Given the description of an element on the screen output the (x, y) to click on. 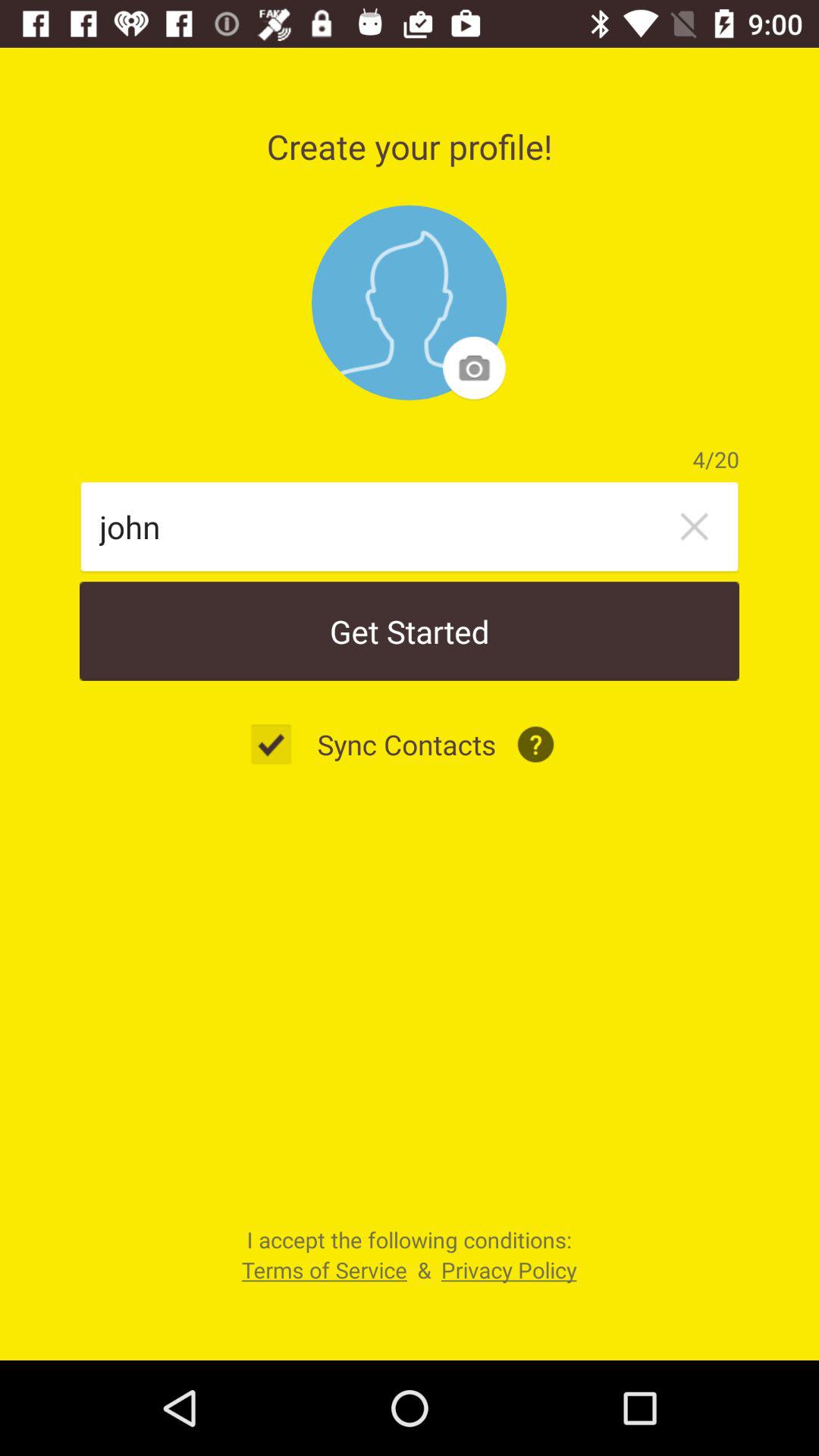
add profile picture (408, 302)
